Given the description of an element on the screen output the (x, y) to click on. 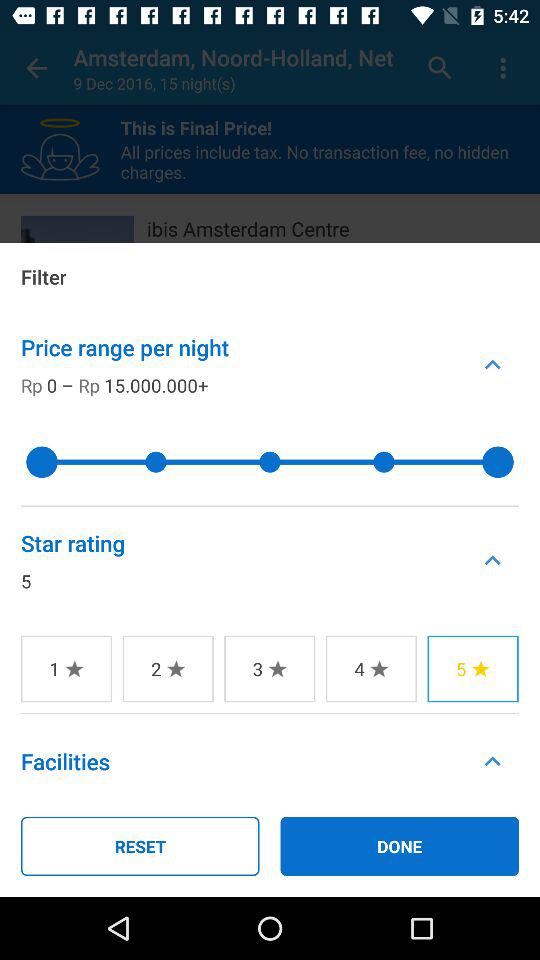
turn on the icon next to the reset icon (399, 846)
